Given the description of an element on the screen output the (x, y) to click on. 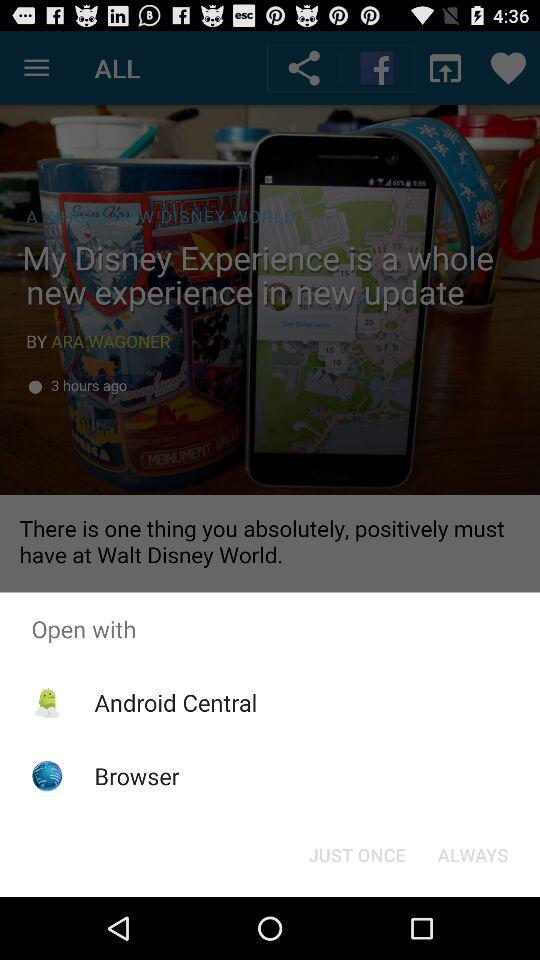
turn on the android central (175, 702)
